Given the description of an element on the screen output the (x, y) to click on. 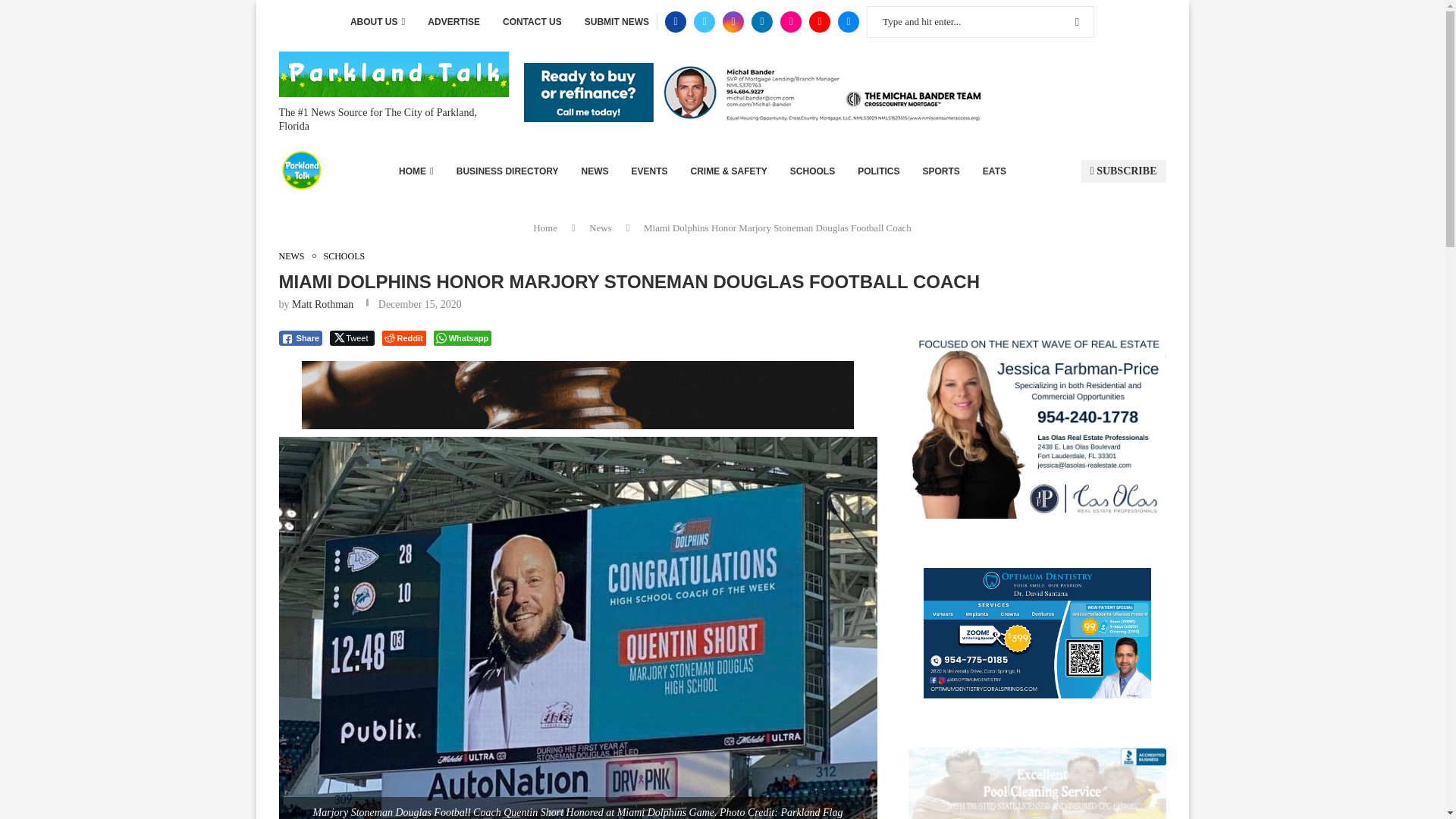
CONTACT US (532, 22)
ABOUT US (377, 22)
SUBMIT NEWS (617, 22)
BUSINESS DIRECTORY (508, 171)
ADVERTISE (454, 22)
